Given the description of an element on the screen output the (x, y) to click on. 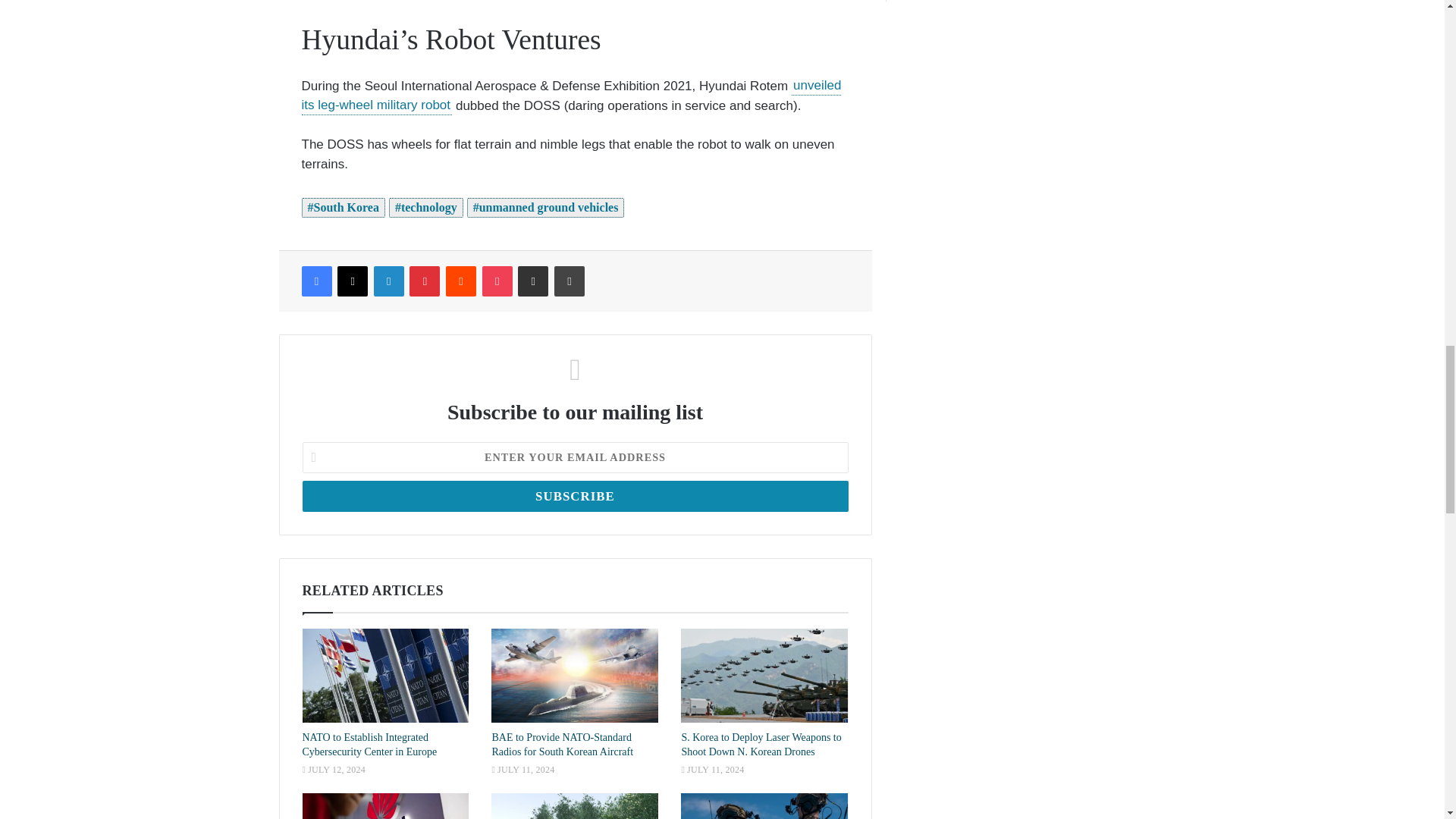
Subscribe (574, 495)
